Given the description of an element on the screen output the (x, y) to click on. 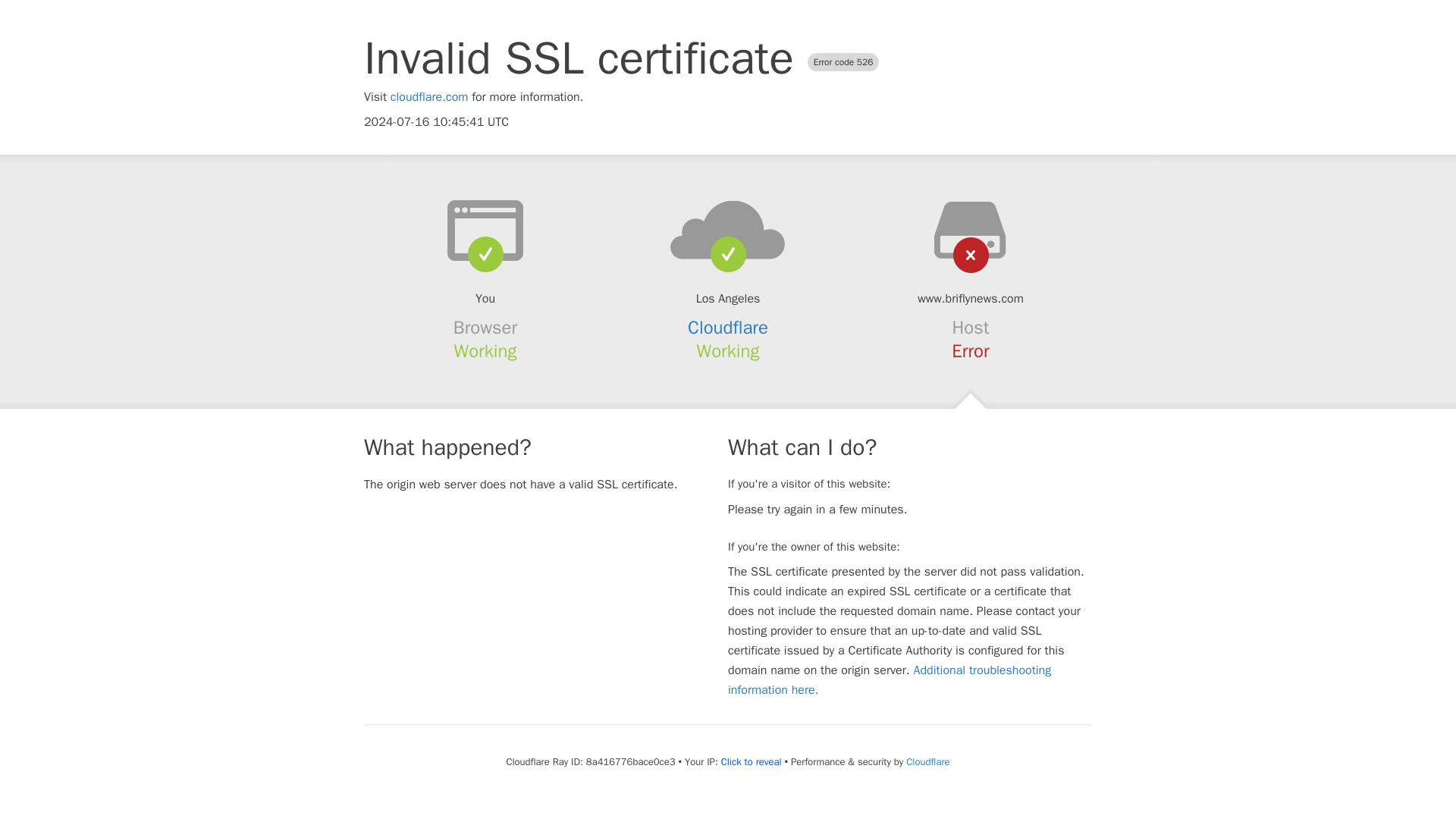
cloudflare.com (429, 96)
Additional troubleshooting information here. (889, 679)
Cloudflare (927, 761)
Cloudflare (727, 327)
Click to reveal (750, 762)
